Given the description of an element on the screen output the (x, y) to click on. 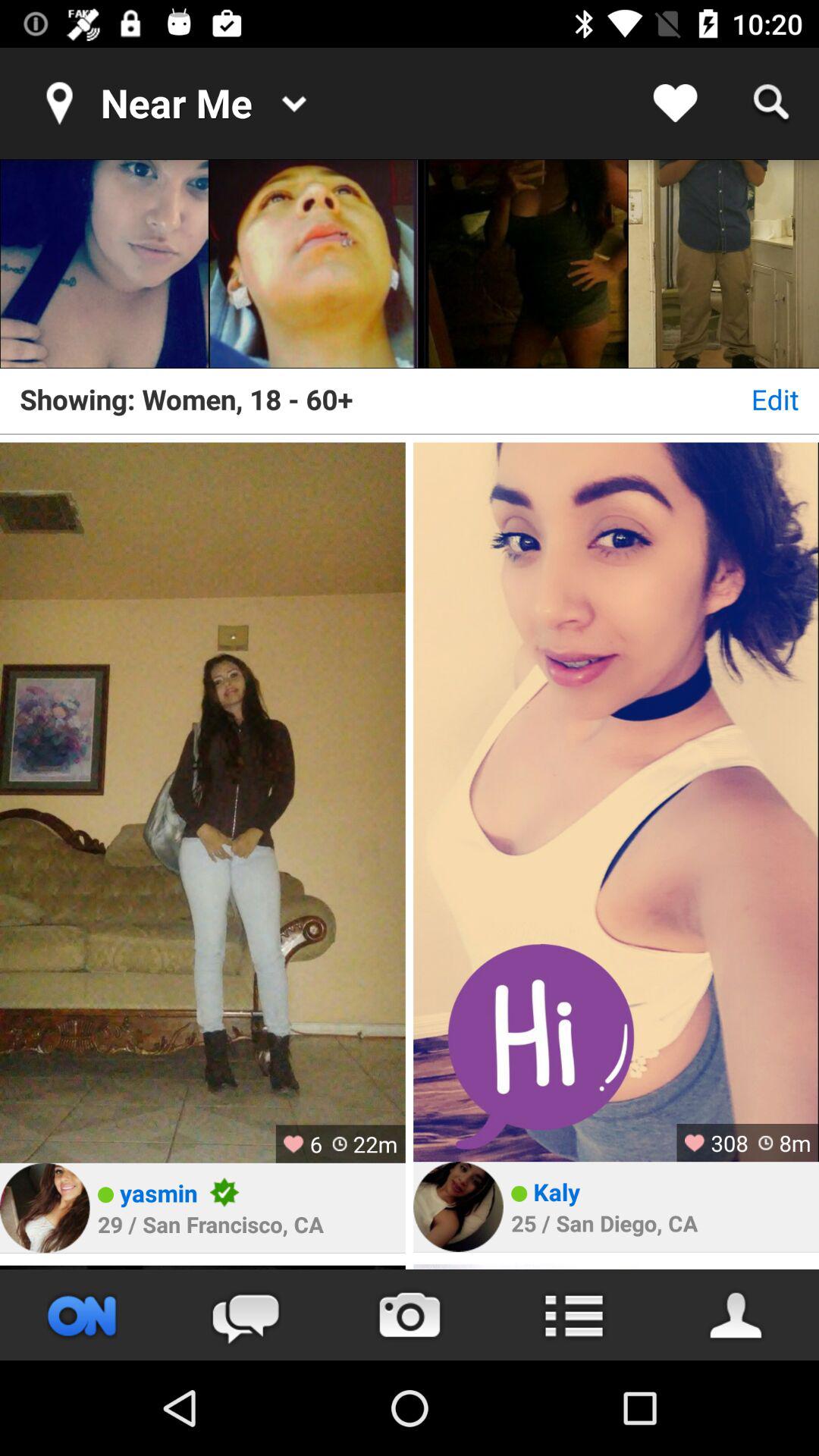
access menu options (573, 1315)
